Given the description of an element on the screen output the (x, y) to click on. 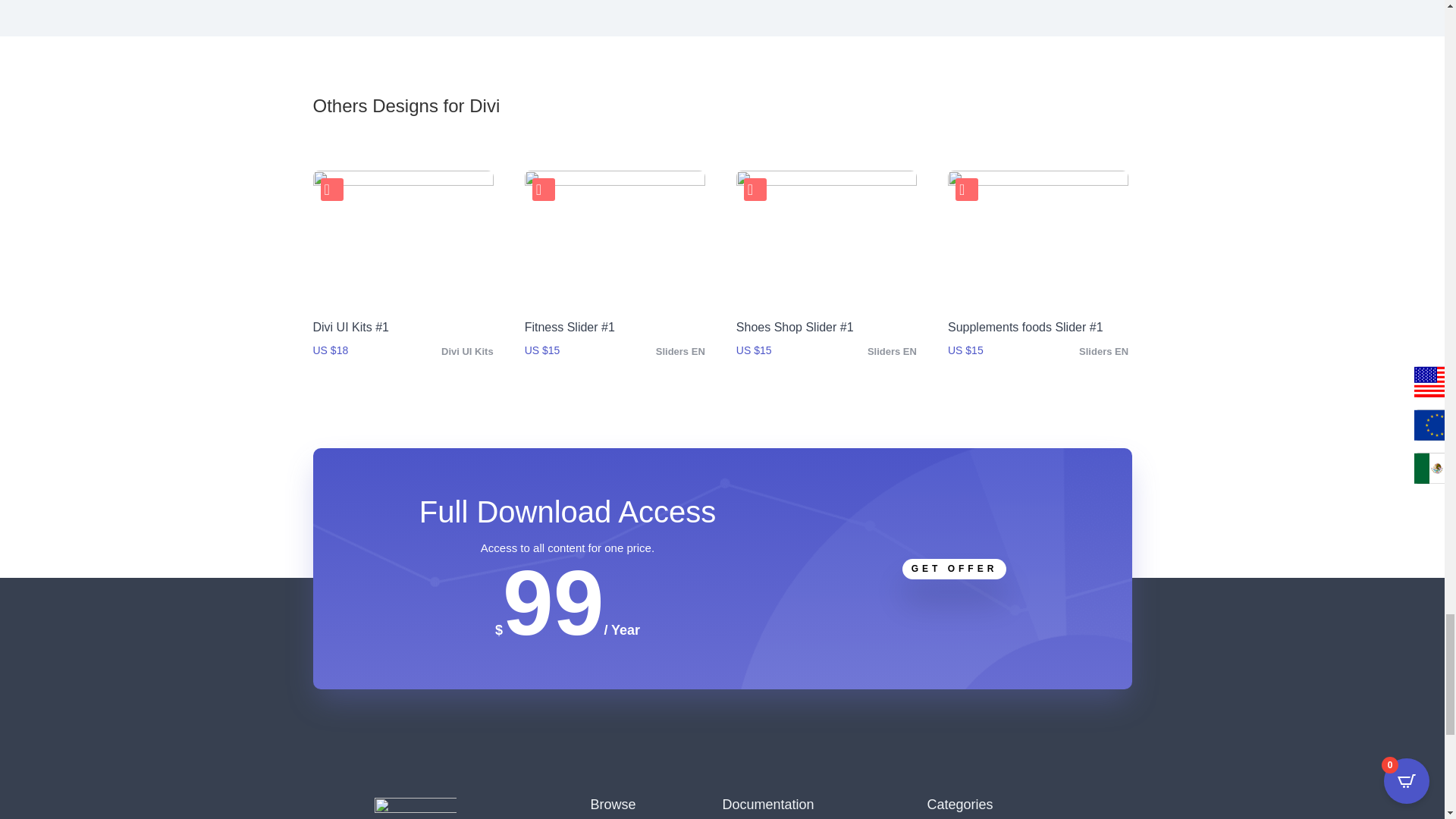
300-blanco-Uxdivi-templates-logo (415, 808)
